Given the description of an element on the screen output the (x, y) to click on. 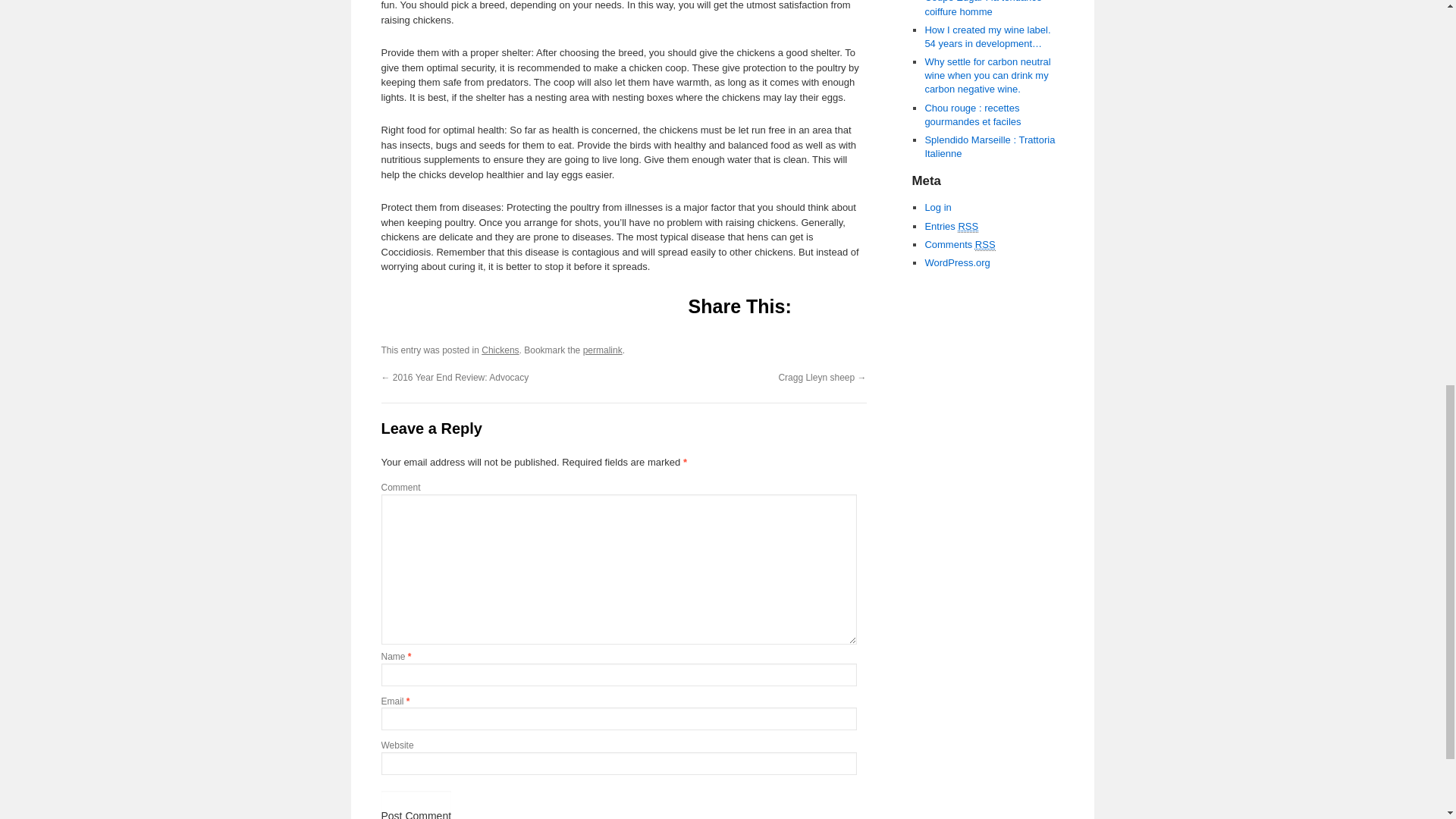
Post Comment (415, 805)
Really Simple Syndication (968, 226)
permalink (603, 349)
Really Simple Syndication (985, 244)
Chickens (499, 349)
